Given the description of an element on the screen output the (x, y) to click on. 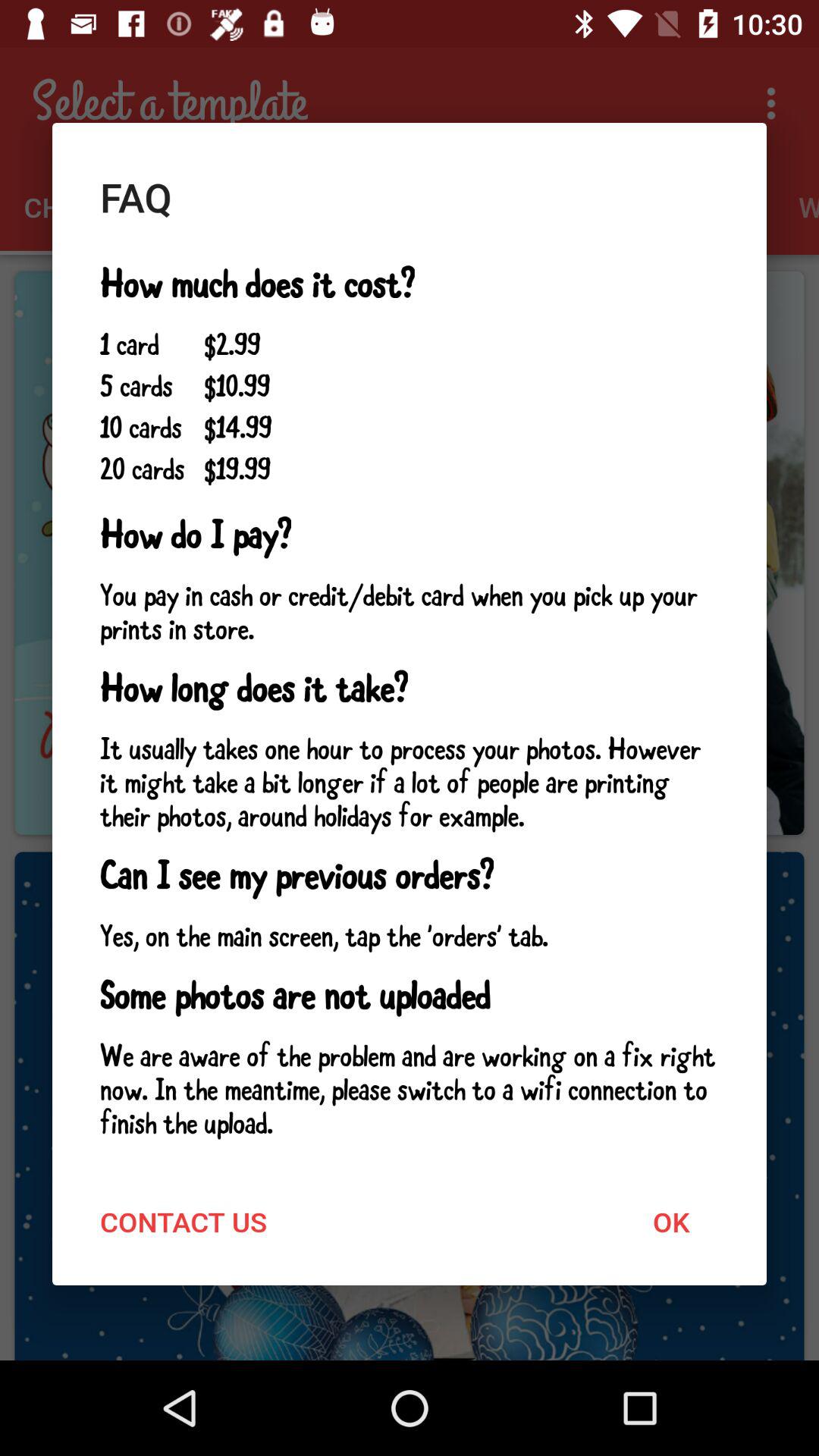
launch contact us (183, 1221)
